Given the description of an element on the screen output the (x, y) to click on. 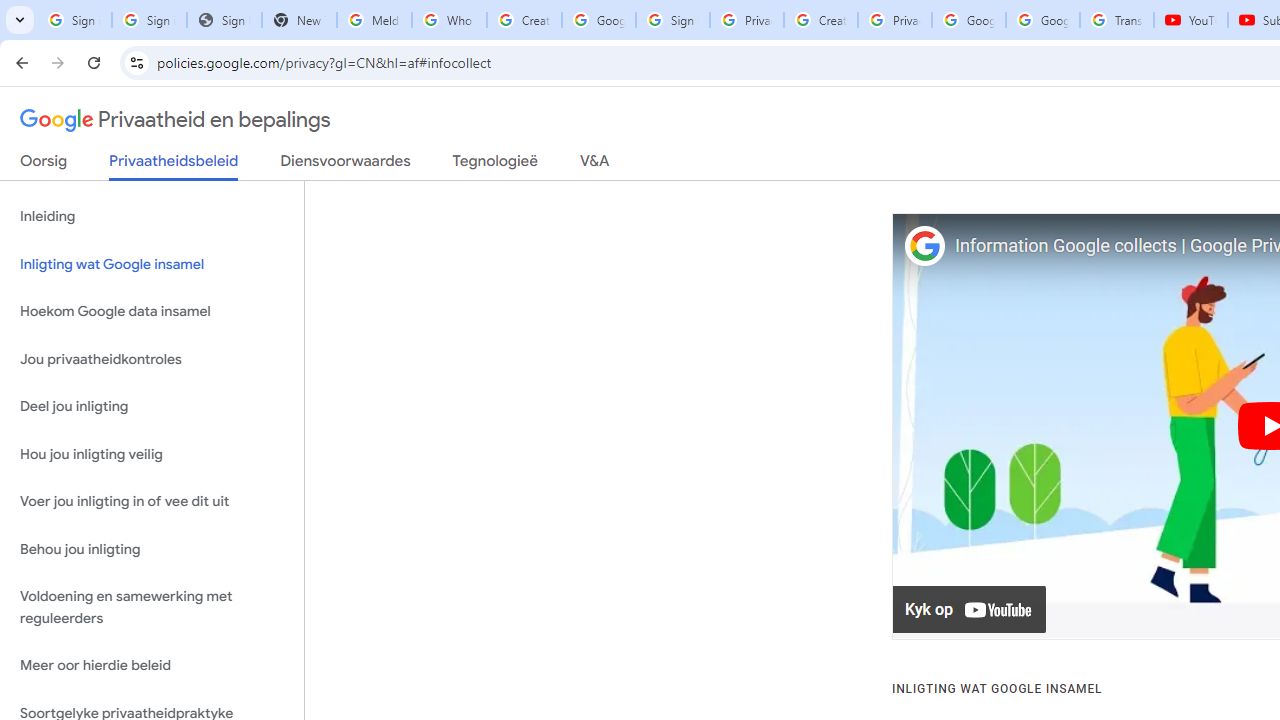
Fotobeeld van Google (924, 246)
Oorsig (43, 165)
Meer oor hierdie beleid (152, 666)
Google Account (1043, 20)
Privaatheidsbeleid (173, 166)
YouTube (1190, 20)
Inligting wat Google insamel (152, 263)
Voer jou inligting in of vee dit uit (152, 502)
Deel jou inligting (152, 407)
Privaatheid en bepalings (175, 120)
Hou jou inligting veilig (152, 453)
